Given the description of an element on the screen output the (x, y) to click on. 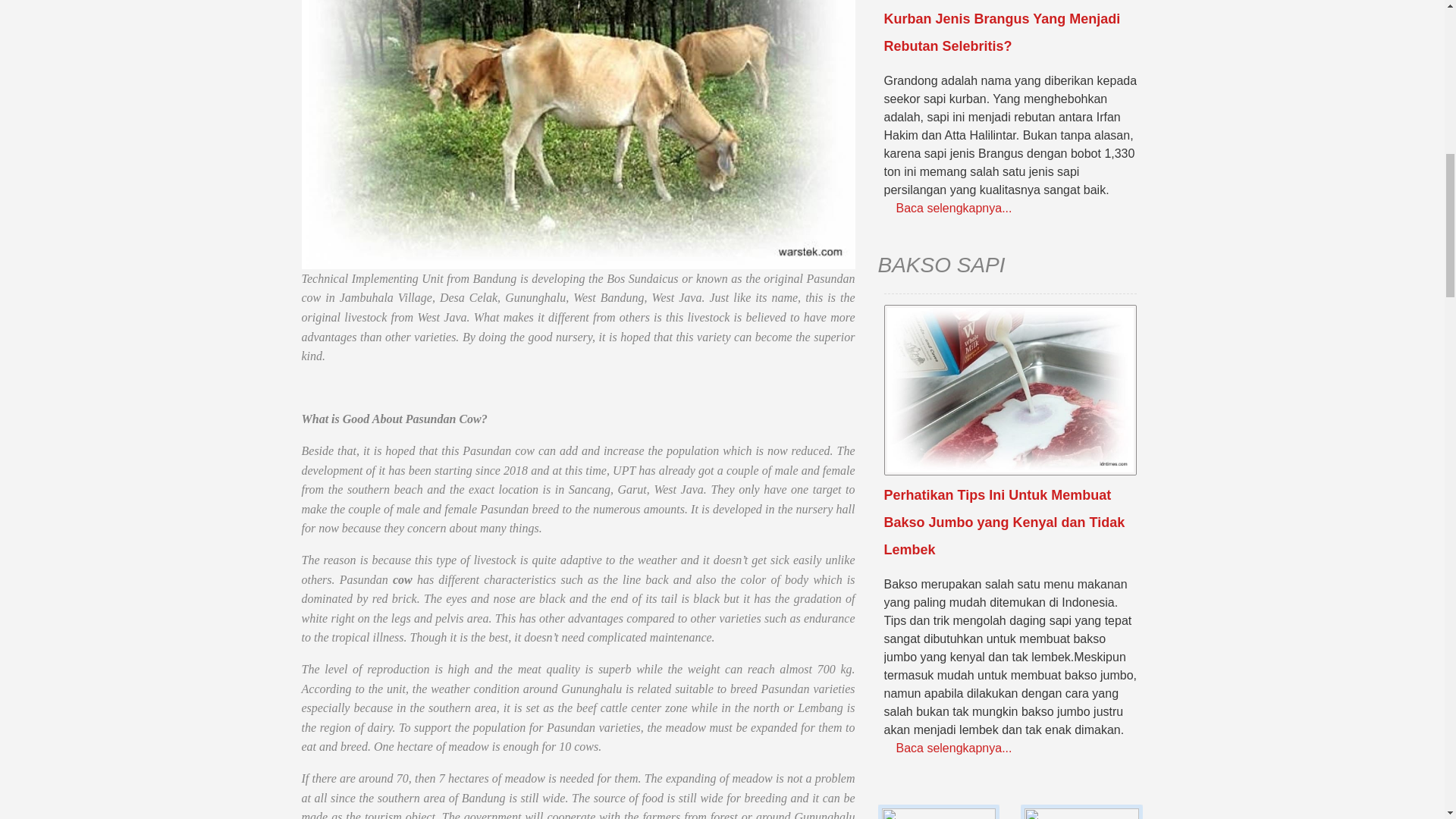
RAWON GODONG JATI MBAH RAPI (938, 811)
